Given the description of an element on the screen output the (x, y) to click on. 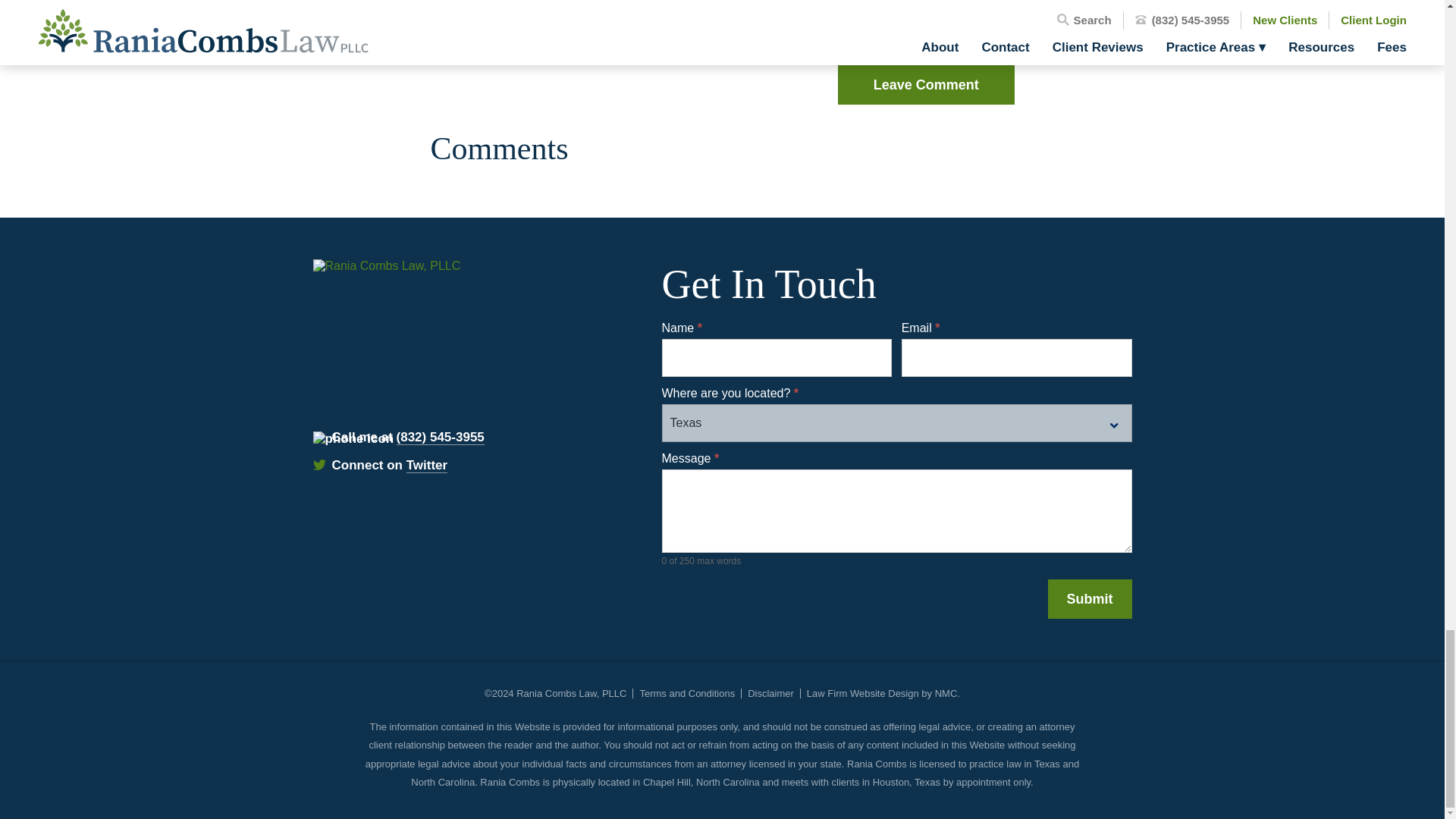
Disclaimer (770, 693)
Law Firm Website Design (862, 693)
homepage (416, 315)
Terms and Conditions (687, 693)
Leave Comment (925, 84)
Leave Comment (925, 84)
Twitter (426, 465)
Submit (1090, 599)
